Given the description of an element on the screen output the (x, y) to click on. 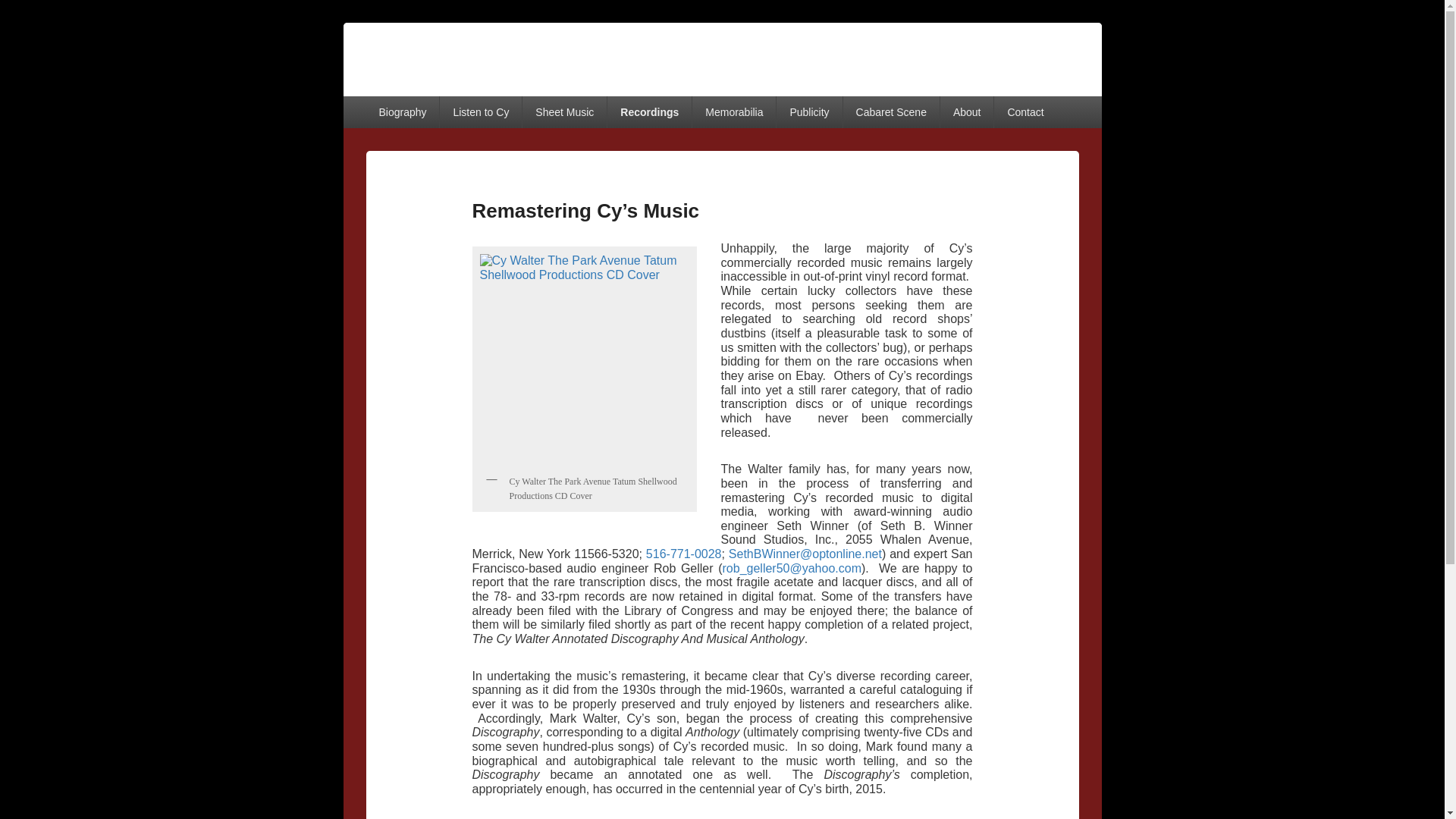
Cabaret Scene (891, 111)
Publicity (808, 111)
Listen to Cy (480, 111)
Sheet Music (564, 111)
Cy Walter (404, 47)
About (967, 111)
Memorabilia (734, 111)
Contact (1025, 111)
Recordings (649, 111)
Biography (402, 111)
